Given the description of an element on the screen output the (x, y) to click on. 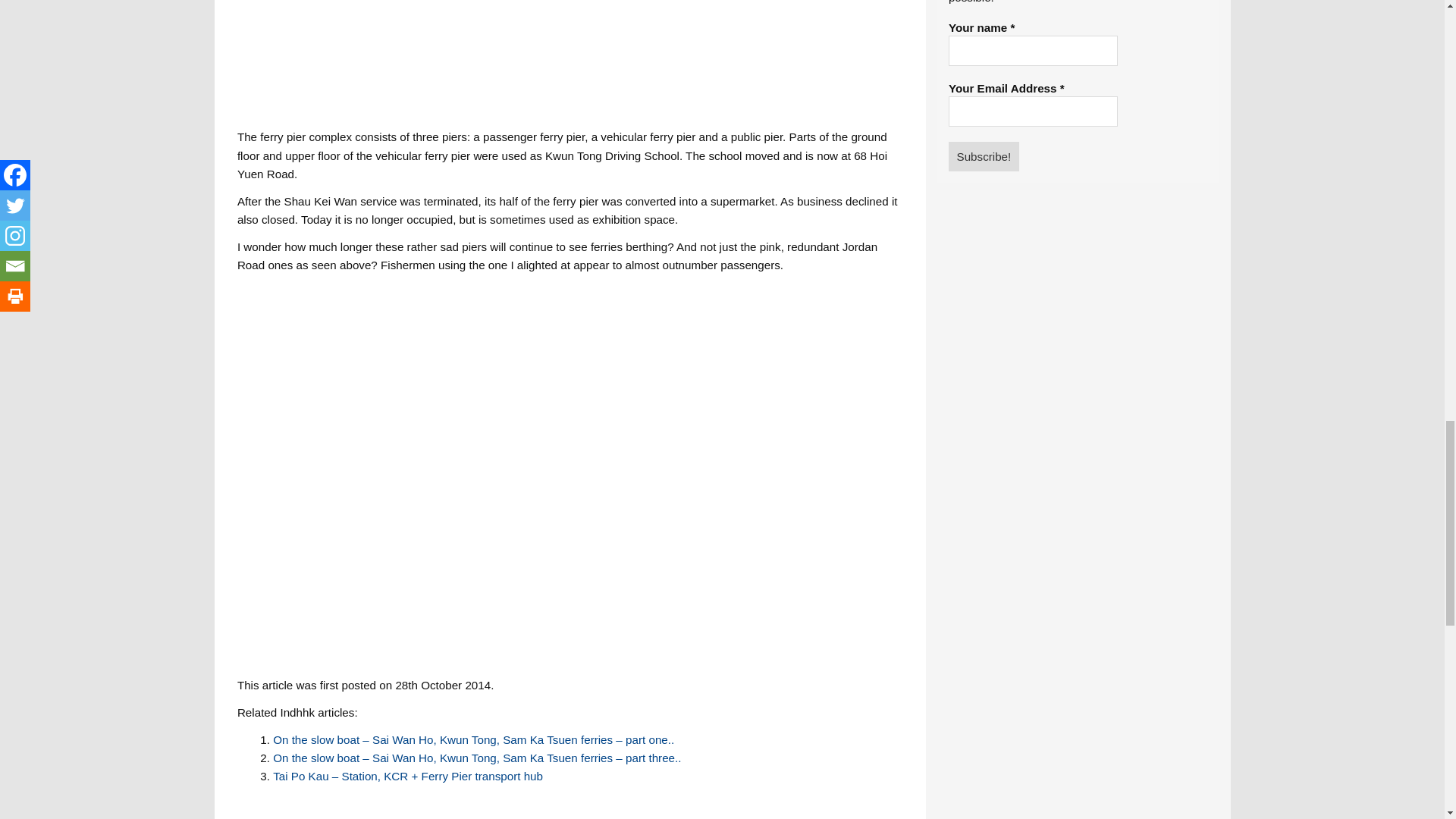
Subscribe! (984, 155)
